Given the description of an element on the screen output the (x, y) to click on. 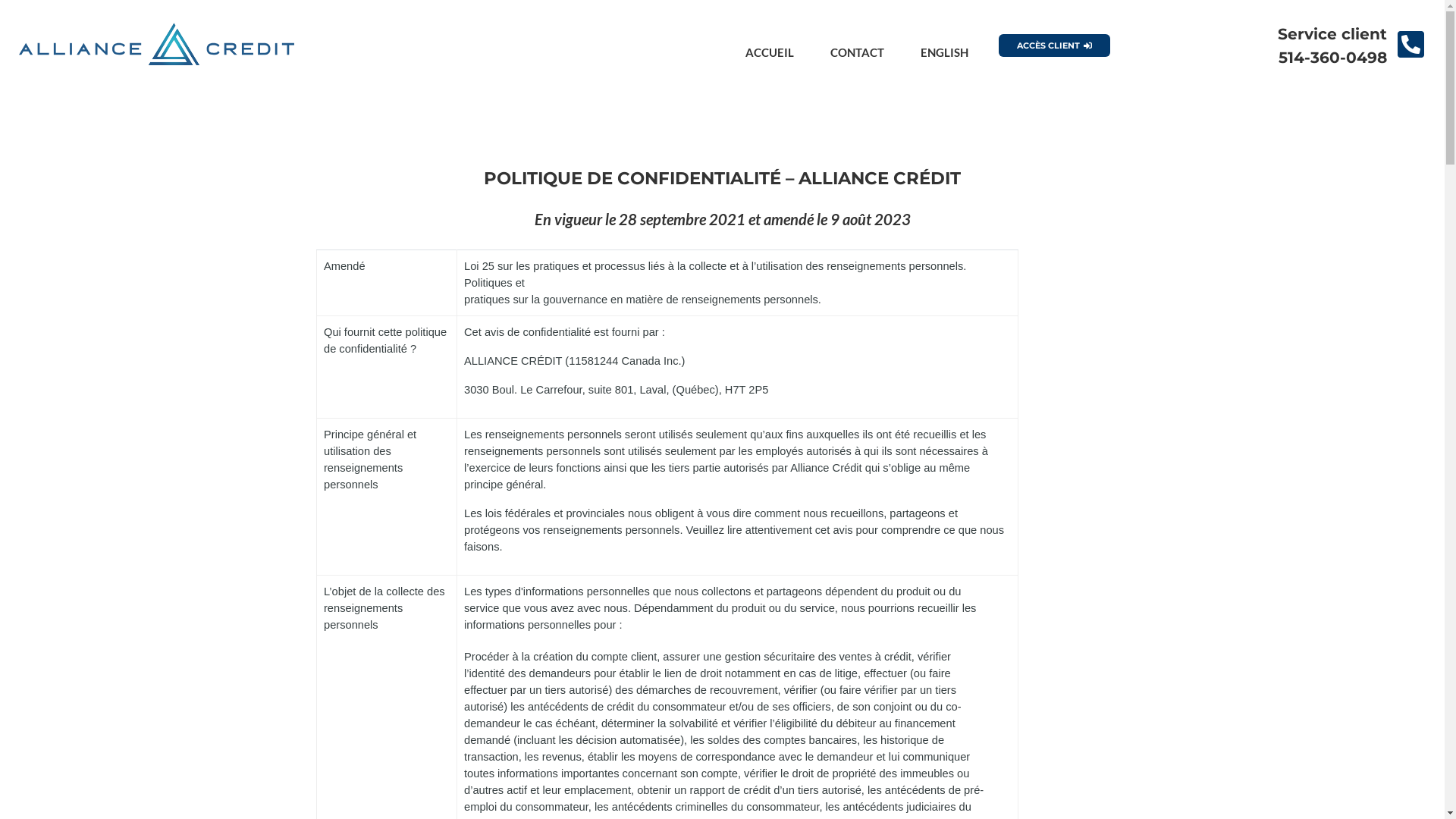
ACCUEIL Element type: text (769, 50)
CONTACT Element type: text (857, 50)
ENGLISH Element type: text (944, 50)
Service client
514-360-0498 Element type: text (1331, 56)
